Given the description of an element on the screen output the (x, y) to click on. 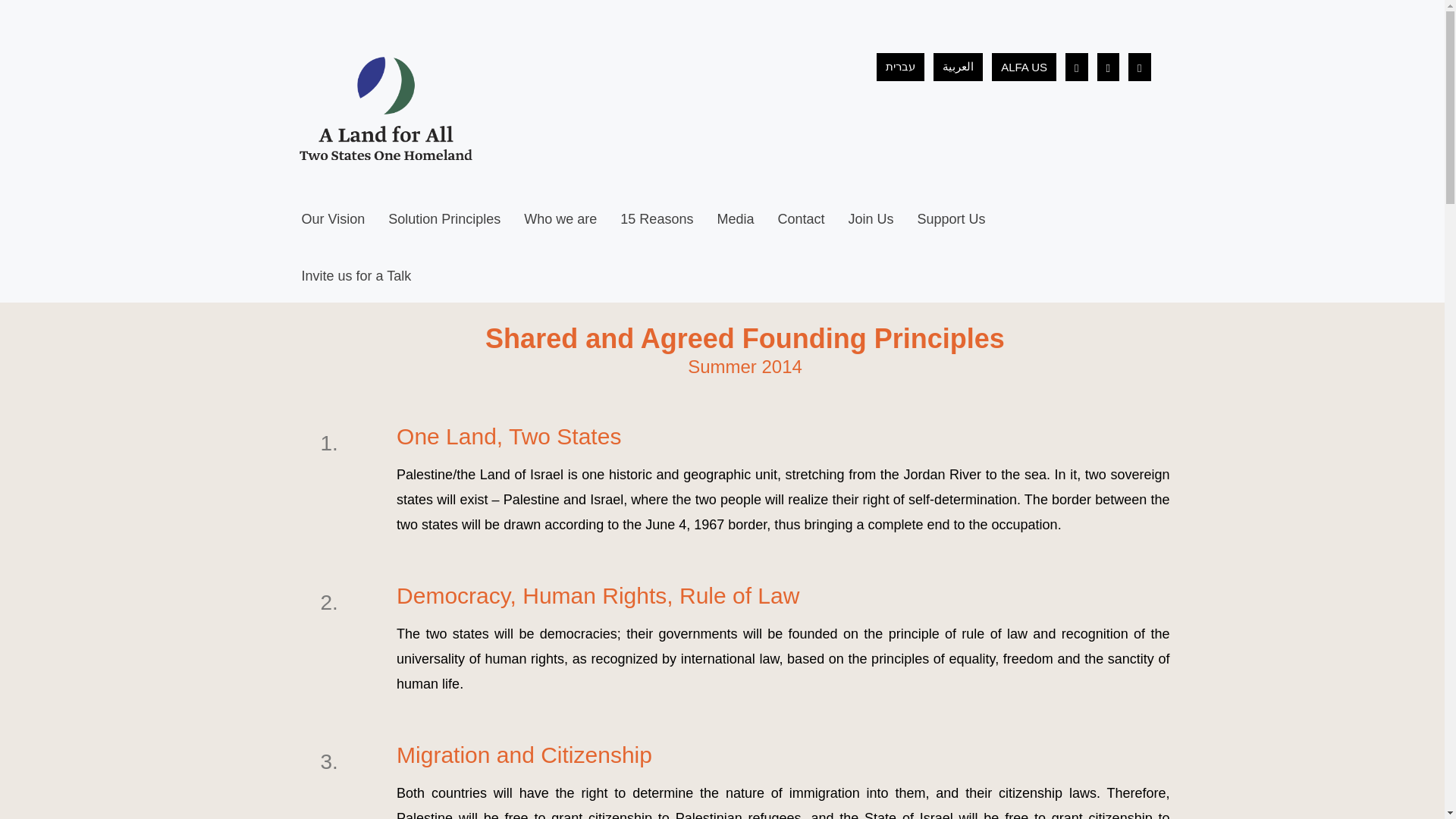
Join Us (870, 219)
Support Us (951, 219)
Who we are (560, 219)
Media (735, 219)
Solution Principles (444, 219)
Our Vision (333, 219)
ALFA US (1024, 67)
15 Reasons (656, 219)
Contact (800, 219)
Invite us for a Talk (356, 276)
